Given the description of an element on the screen output the (x, y) to click on. 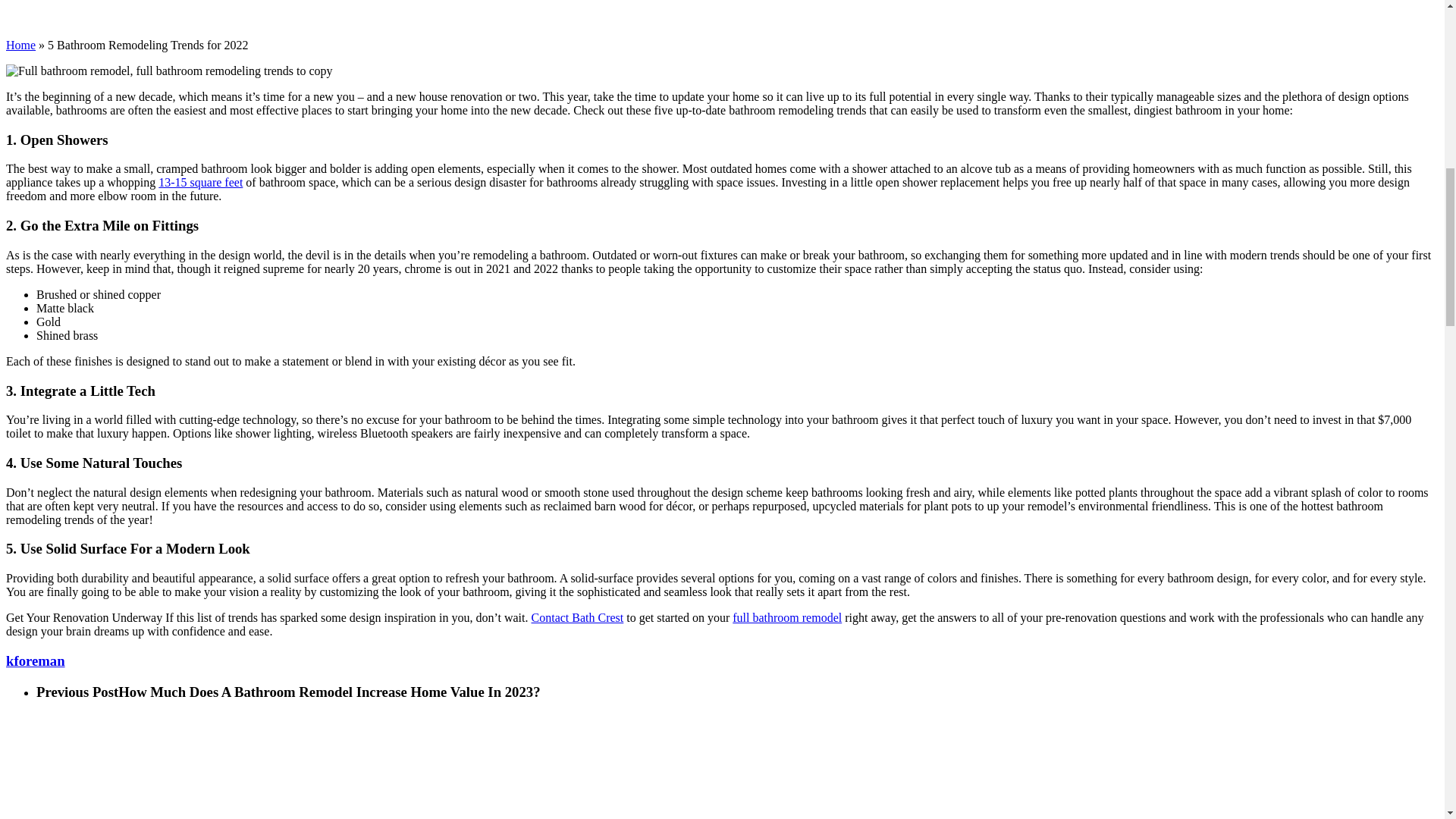
Home (19, 44)
Contact Bath Crest (577, 617)
13-15 square feet (200, 182)
full bathroom remodel (786, 617)
kforeman (35, 660)
